Given the description of an element on the screen output the (x, y) to click on. 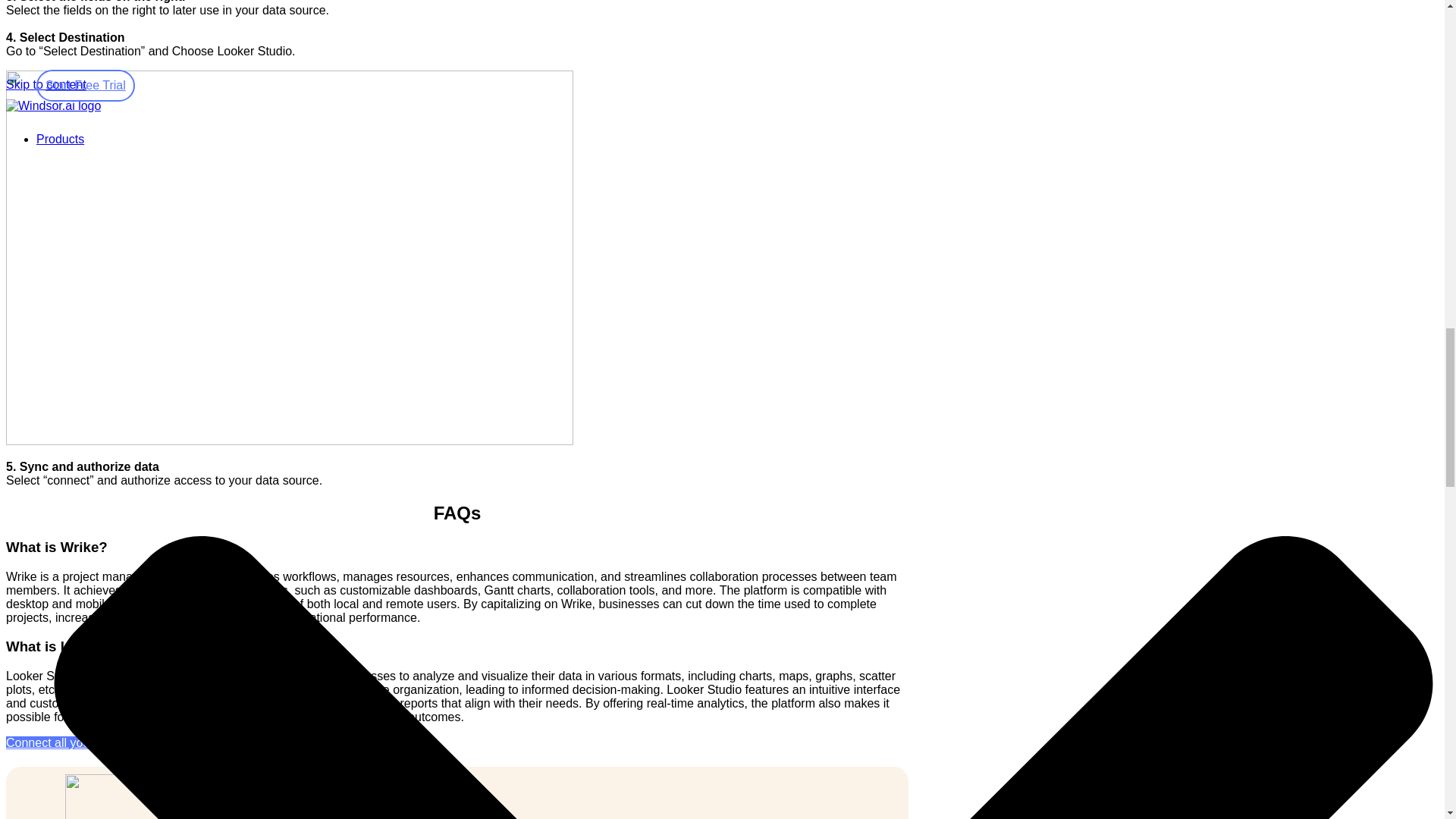
Destinations (99, 133)
Data Sources (102, 146)
Pricing (55, 174)
Attribution and market mix modeling (163, 160)
